Given the description of an element on the screen output the (x, y) to click on. 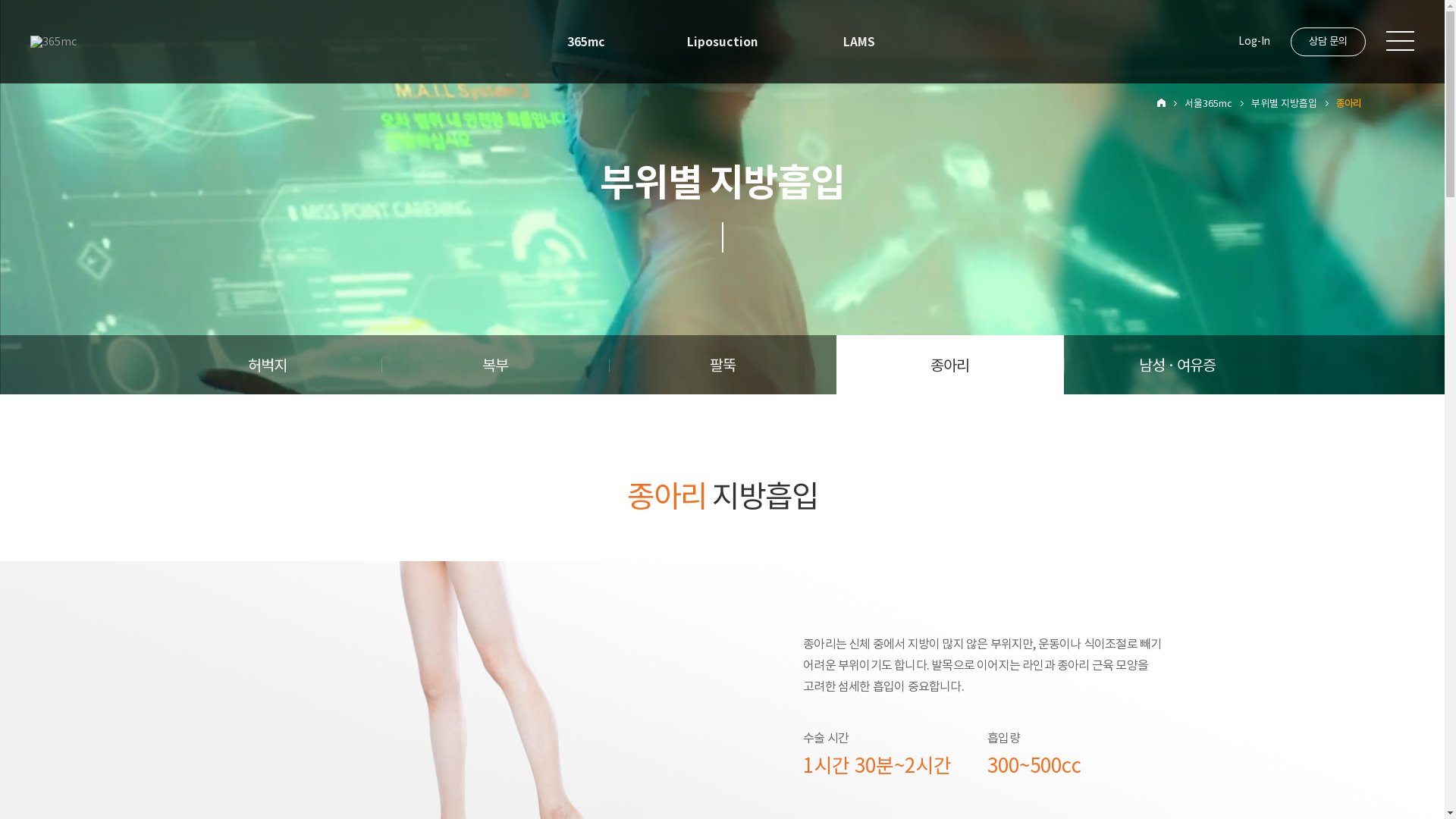
365mc Element type: text (585, 42)
Log-In Element type: text (1254, 41)
LAMS Element type: text (858, 42)
Liposuction Element type: text (721, 42)
